Given the description of an element on the screen output the (x, y) to click on. 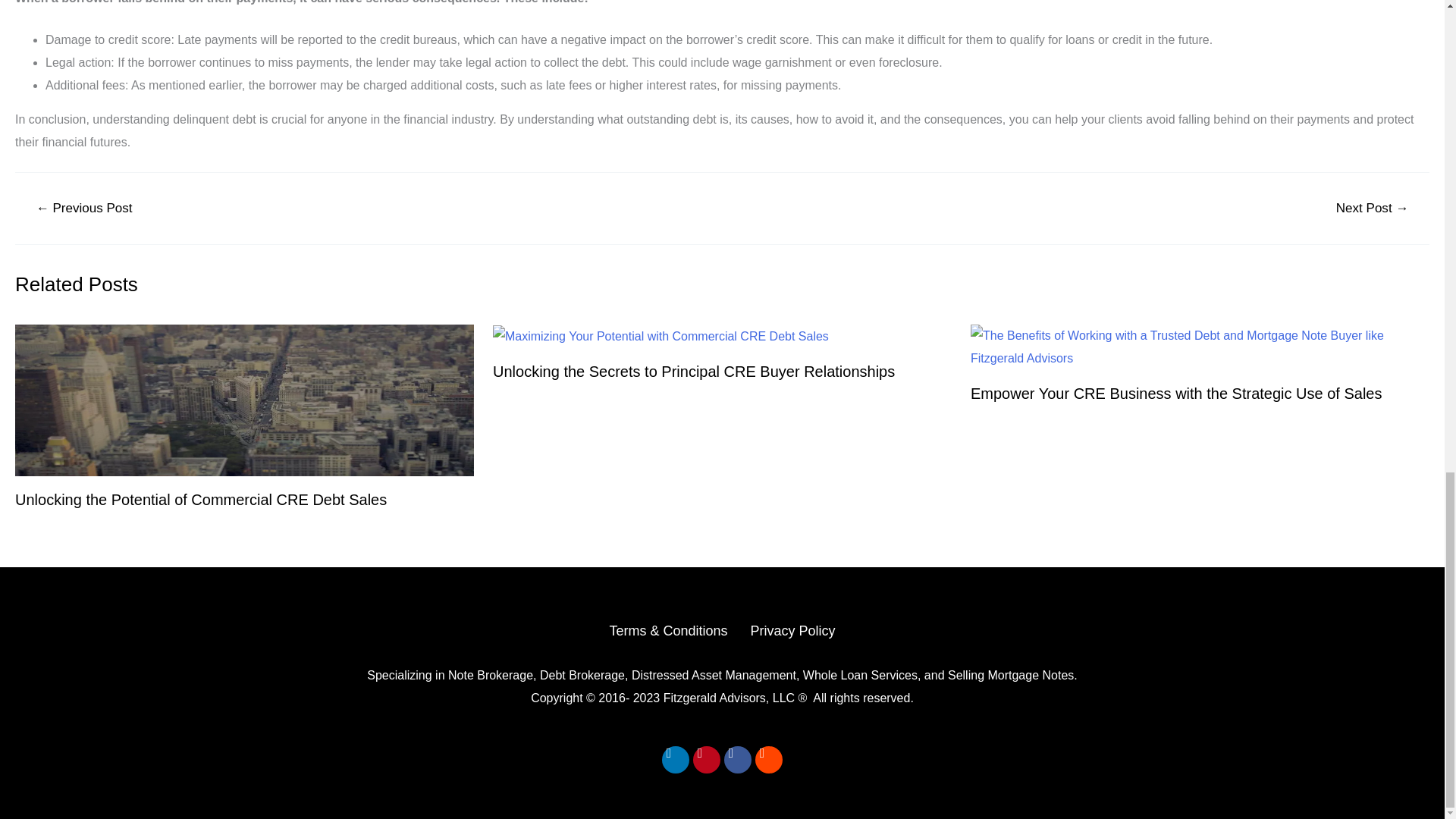
Unlocking the Secrets to Principal CRE Buyer Relationships (694, 371)
Debt Brokerage (582, 675)
Unleashing the Power of Commercial CRE Debt Sales - (660, 336)
Privacy Policy (793, 630)
Unlocking the Potential of Commercial CRE Debt Sales (200, 499)
Empower Your CRE Business with the Strategic Use of Sales (1176, 392)
